Given the description of an element on the screen output the (x, y) to click on. 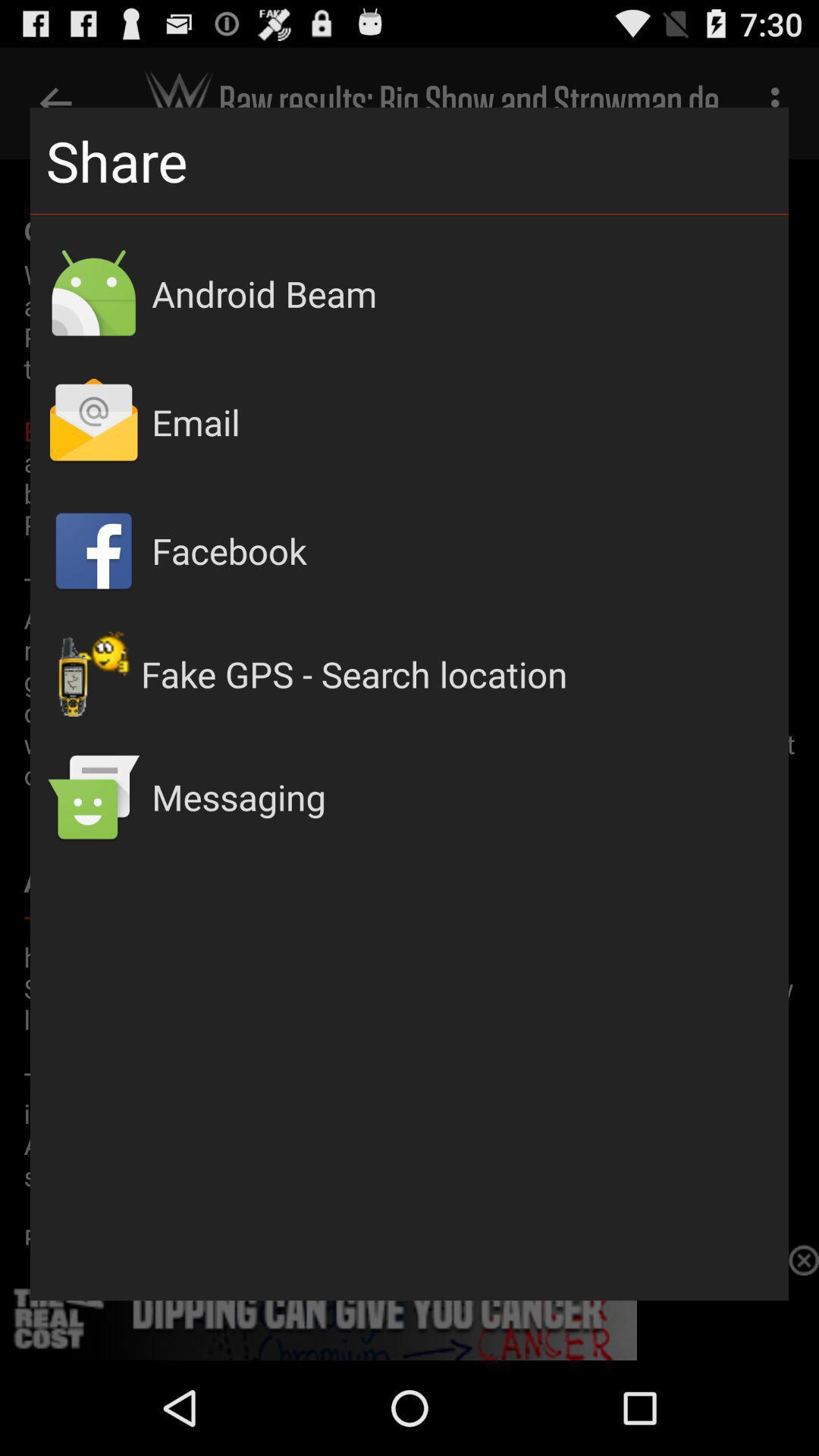
scroll to the facebook icon (461, 550)
